Given the description of an element on the screen output the (x, y) to click on. 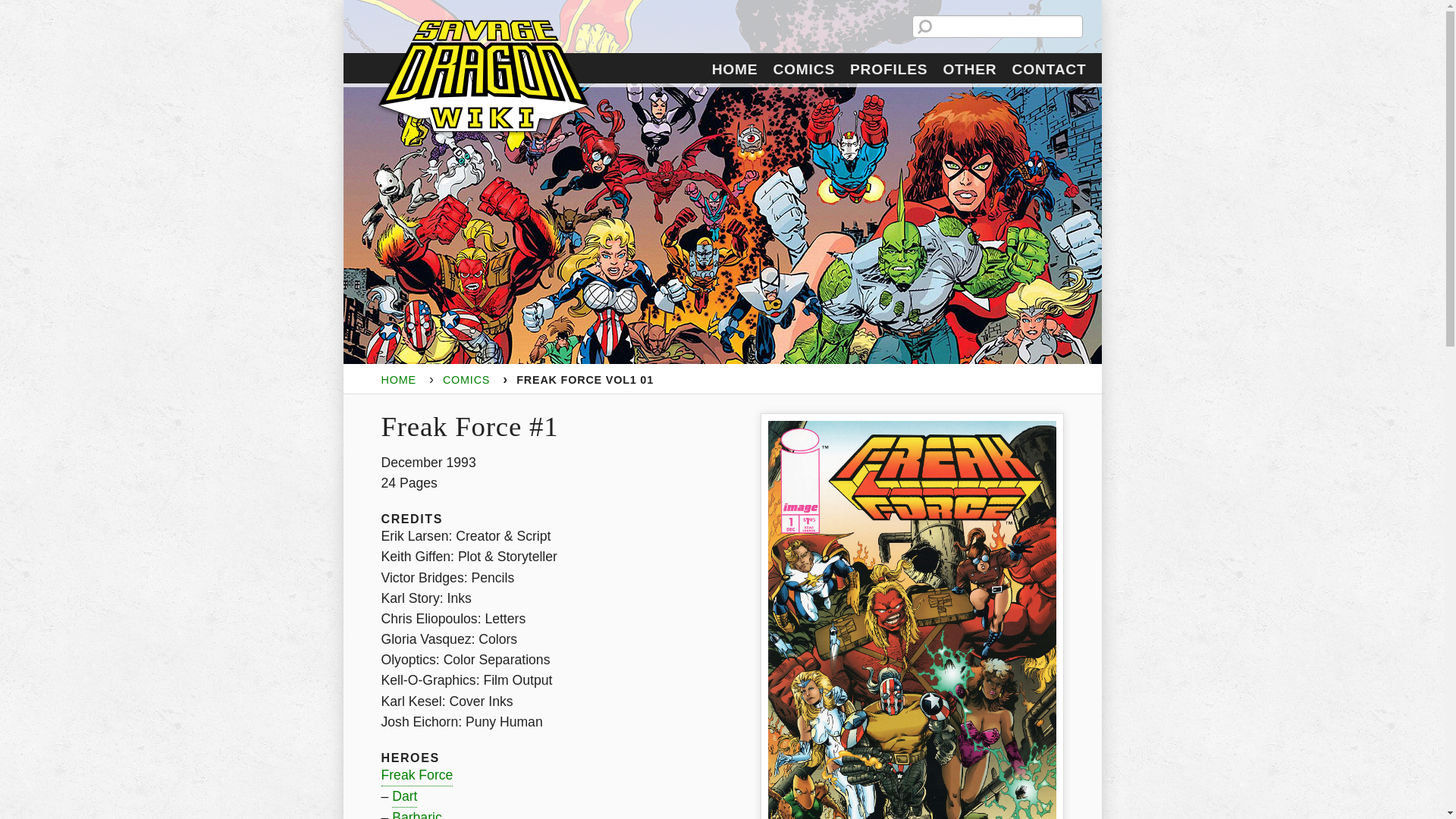
COMICS (465, 378)
Freak Force (416, 775)
HOME (397, 378)
Barbaric (416, 813)
Search (16, 5)
Go to Comics (465, 378)
Go to Home (397, 378)
Dart (403, 796)
